Given the description of an element on the screen output the (x, y) to click on. 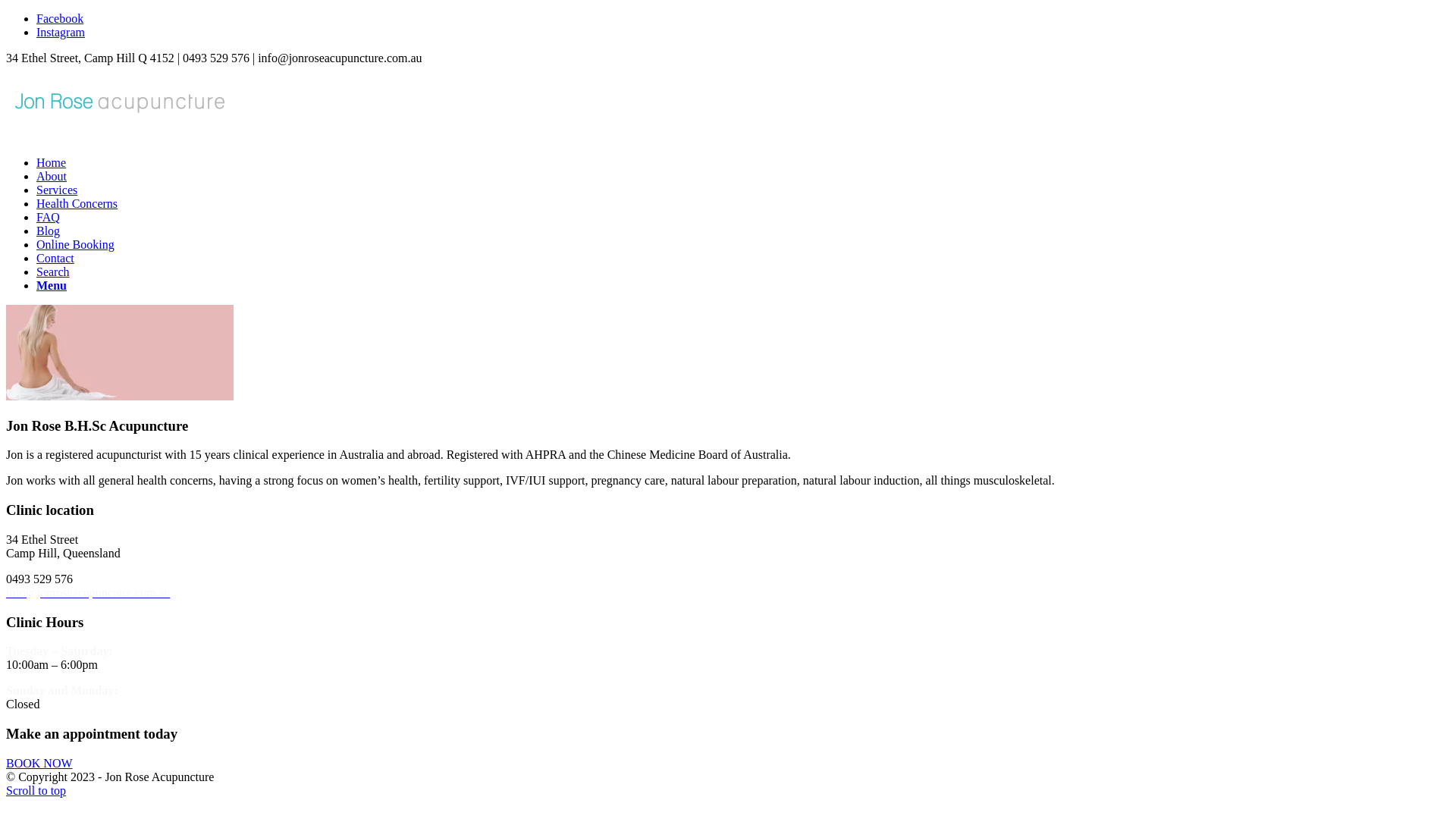
About Element type: text (51, 175)
info@jonroseacupuncture.com.au Element type: text (87, 592)
Instagram Element type: text (60, 31)
Menu Element type: text (51, 285)
Home Element type: text (50, 162)
Health Concerns Element type: text (76, 203)
Facebook Element type: text (59, 18)
Contact Element type: text (55, 257)
Services Element type: text (56, 189)
Blog Element type: text (47, 230)
FAQ Element type: text (47, 216)
Online Booking Element type: text (75, 244)
Search Element type: text (52, 271)
BOOK NOW Element type: text (39, 762)
Scroll to top Element type: text (35, 790)
